Given the description of an element on the screen output the (x, y) to click on. 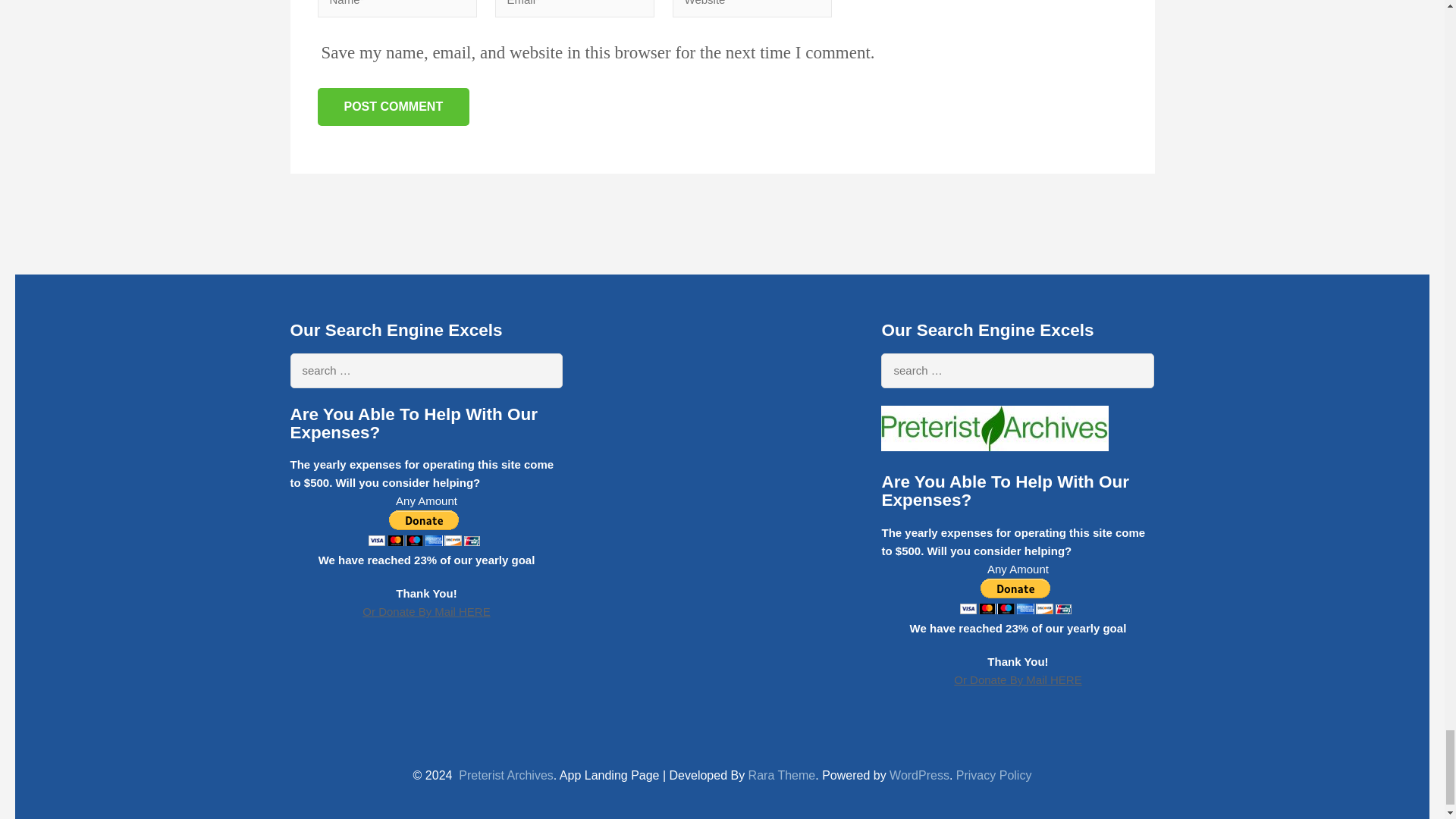
Search (544, 369)
Search (1135, 369)
PayPal - The safer, easier way to pay online! (424, 528)
Post Comment (392, 106)
Search (544, 369)
Search (1135, 369)
PayPal - The safer, easier way to pay online! (1015, 596)
